Given the description of an element on the screen output the (x, y) to click on. 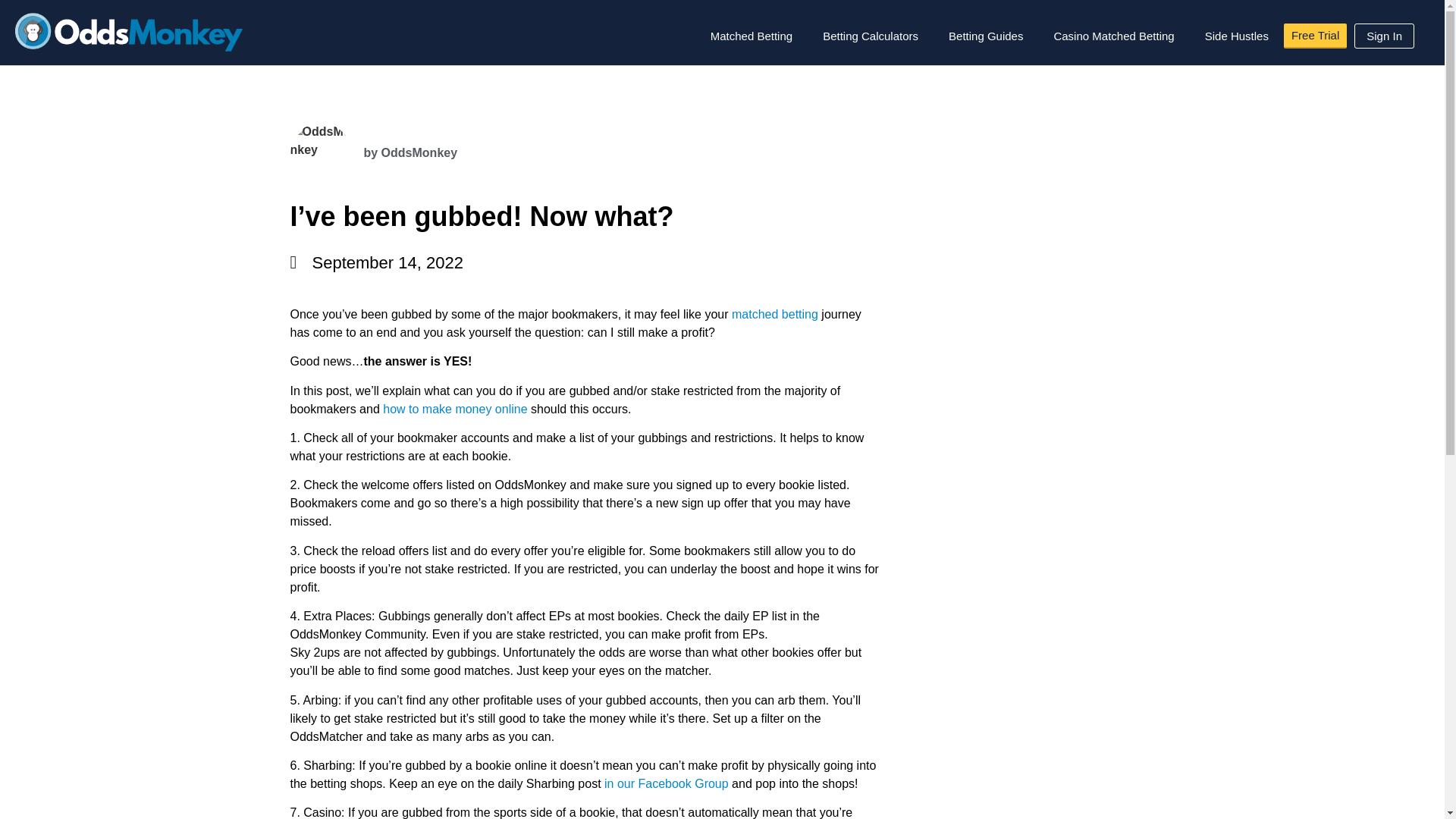
Betting Guides (985, 35)
Side Hustles (1236, 35)
Casino Matched Betting (1113, 35)
Betting Calculators (870, 35)
Matched Betting (751, 35)
